Given the description of an element on the screen output the (x, y) to click on. 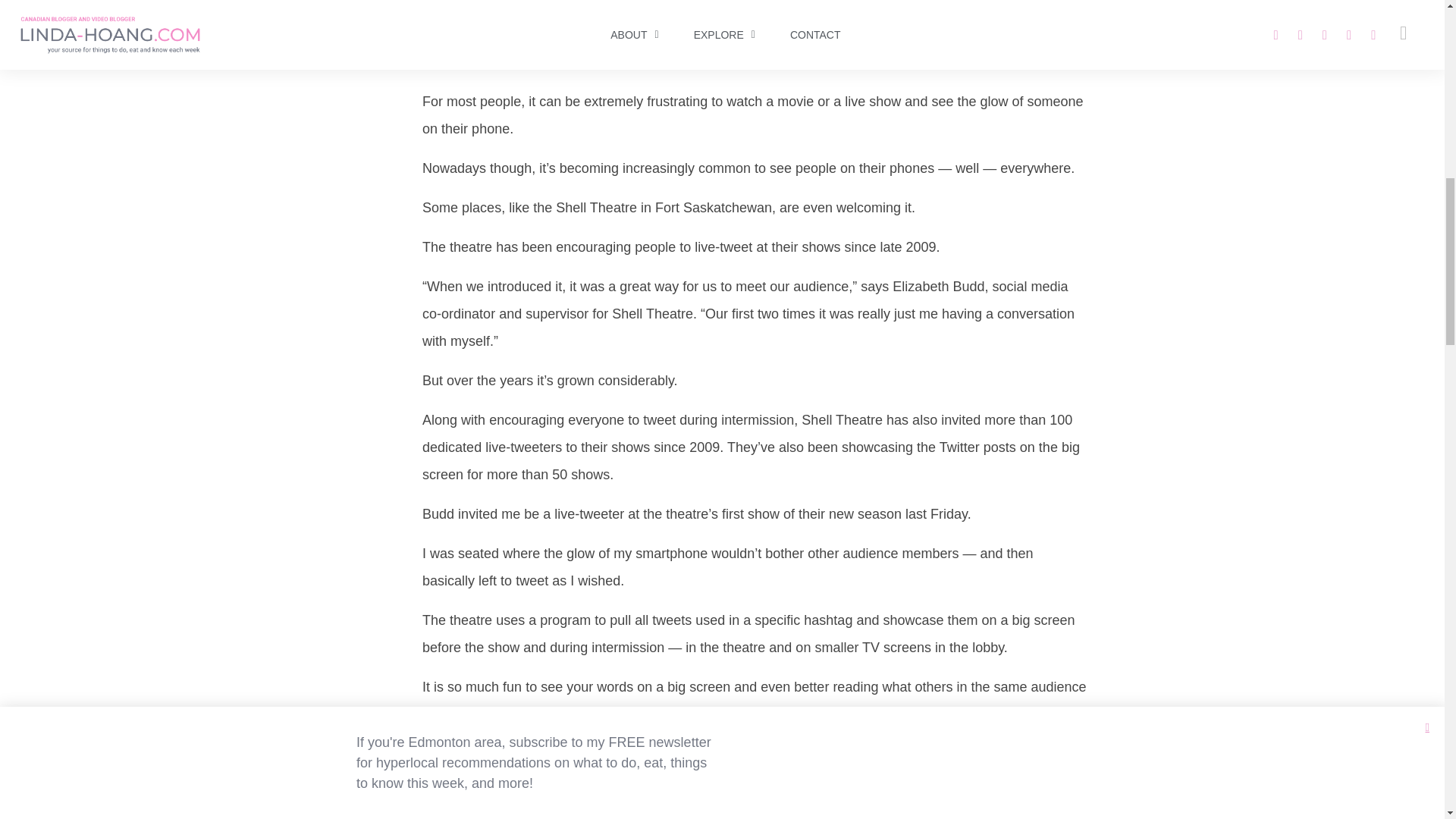
Edmonton Sun Linda Hoang (753, 9)
